Given the description of an element on the screen output the (x, y) to click on. 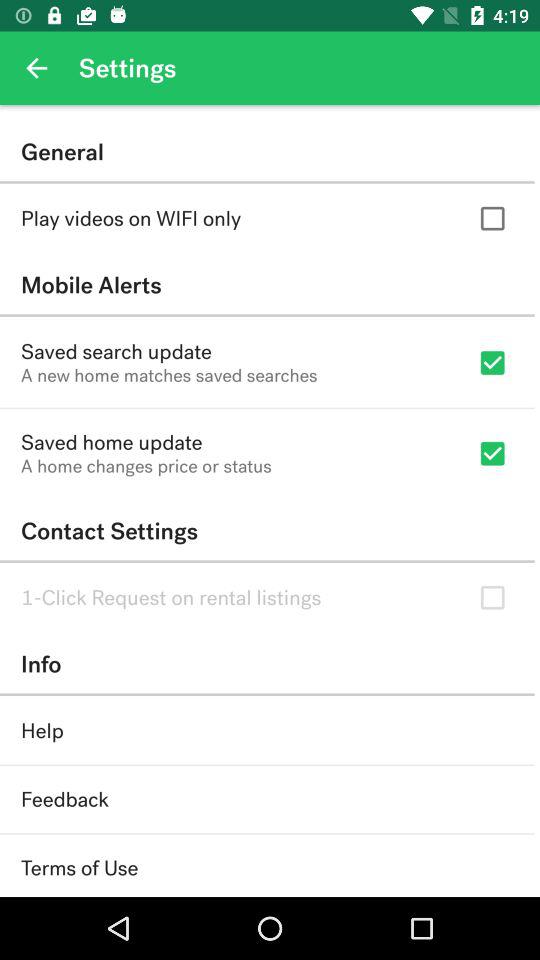
turn on the info item (267, 664)
